Given the description of an element on the screen output the (x, y) to click on. 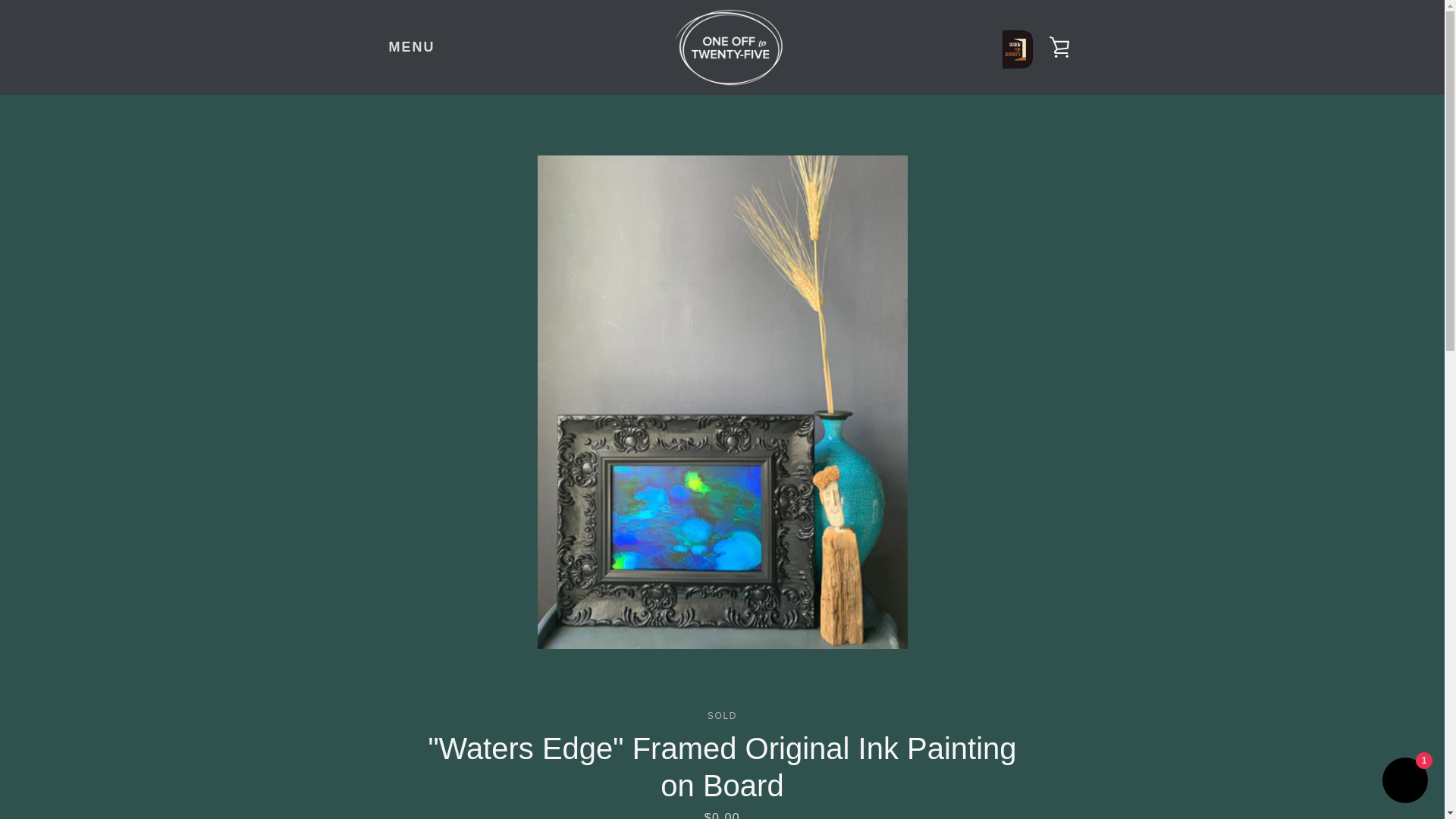
Oneoffto25.com on Instagram (372, 764)
Shopify online store chat (1404, 781)
MENU (411, 47)
VIEW CART (1059, 47)
